Given the description of an element on the screen output the (x, y) to click on. 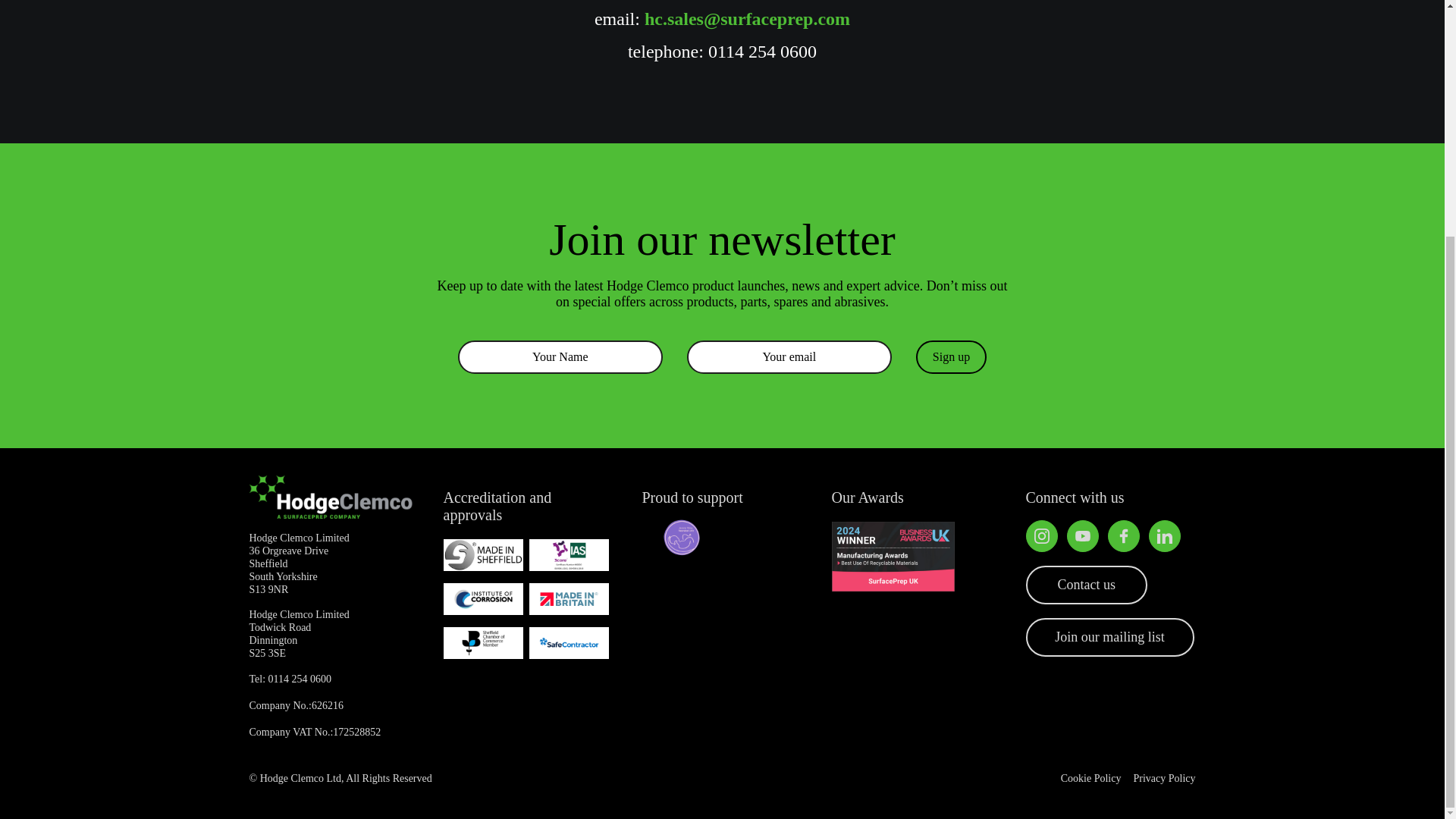
Sign up (951, 356)
Sign up (951, 356)
Search (778, 104)
Contact us (1086, 584)
Privacy Policy (1163, 779)
Join our mailing list (1109, 637)
Cookie Policy (1091, 779)
